Given the description of an element on the screen output the (x, y) to click on. 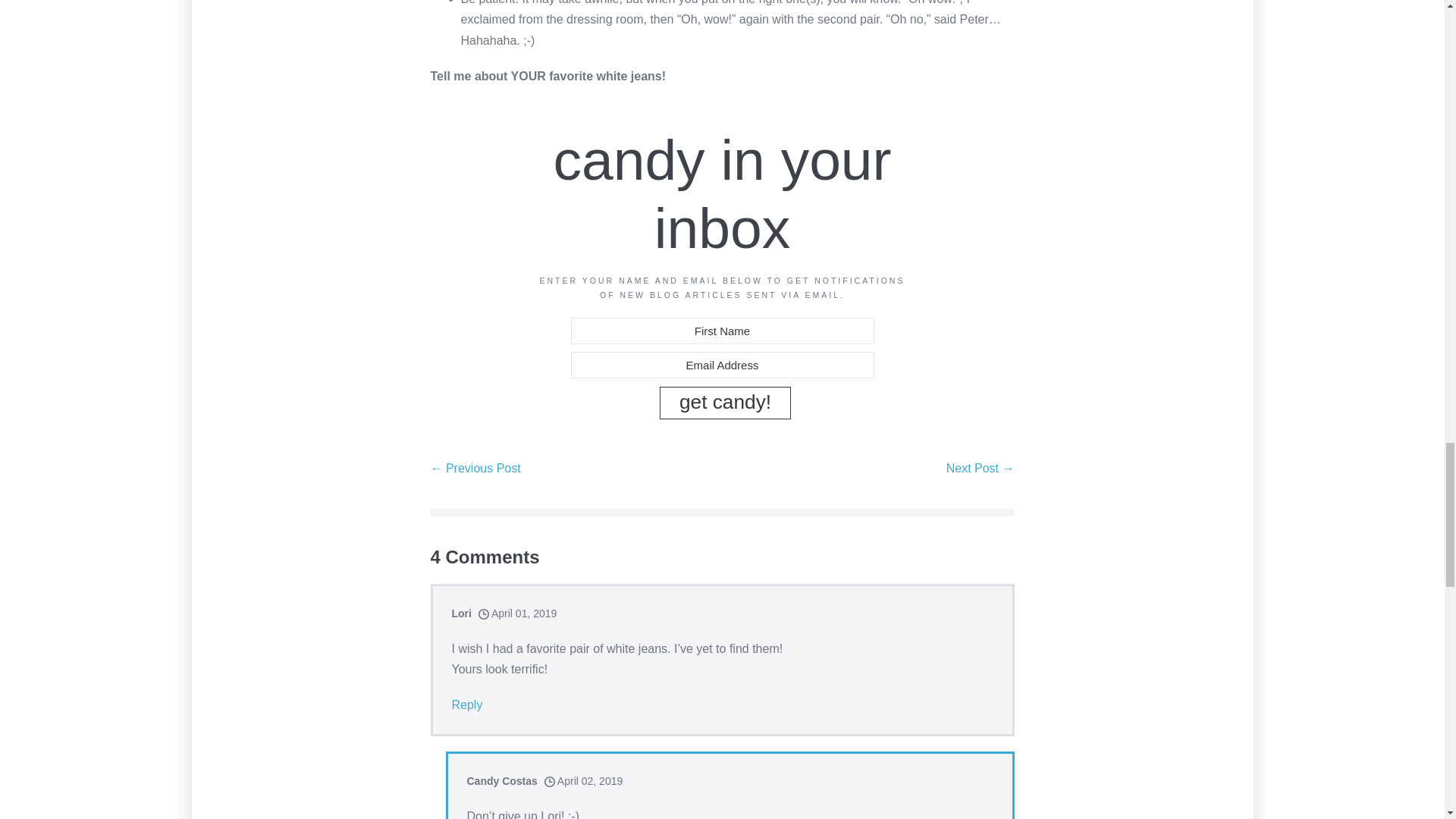
Reply (467, 704)
get candy! (724, 402)
April 01, 2019 (518, 613)
Click Here (724, 402)
April 02, 2019 (583, 780)
